Given the description of an element on the screen output the (x, y) to click on. 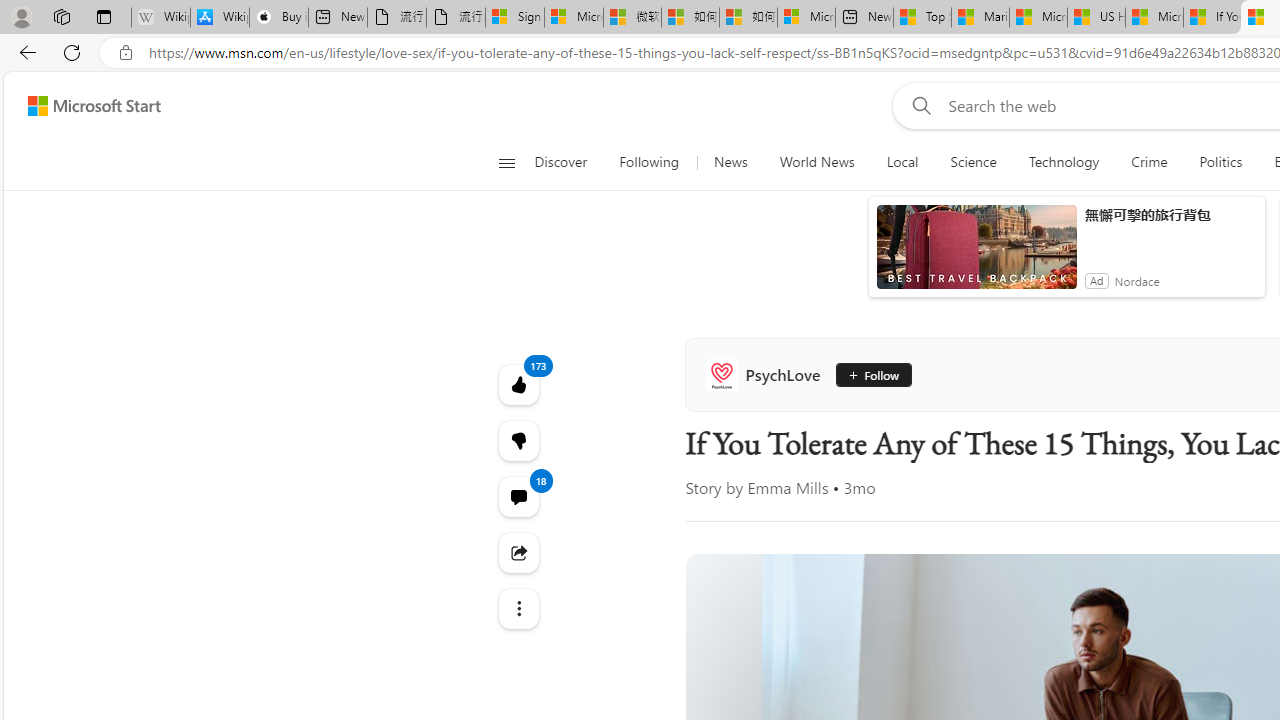
Web search (917, 105)
Microsoft account | Account Checkup (806, 17)
Science (973, 162)
anim-content (975, 255)
Skip to footer (82, 105)
Wikipedia - Sleeping (160, 17)
Politics (1220, 162)
Technology (1064, 162)
Buy iPad - Apple (278, 17)
PsychLove (767, 374)
173 (517, 440)
Science (973, 162)
